Given the description of an element on the screen output the (x, y) to click on. 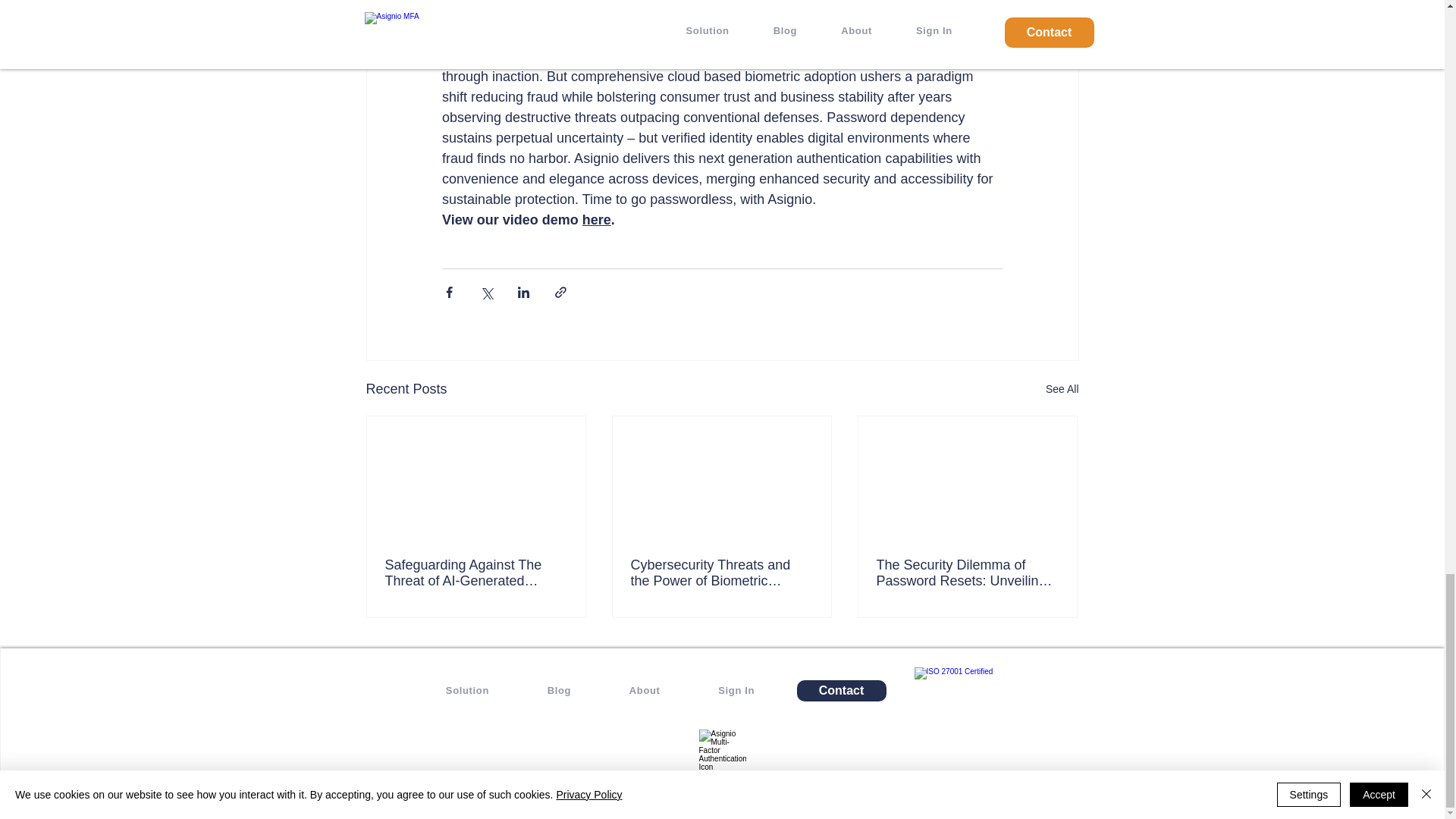
Blog (558, 690)
Solution (467, 690)
here (595, 219)
Sign In (736, 690)
See All (1061, 389)
Badge Blue.png (721, 752)
Contact (840, 690)
iaf logo.png (970, 690)
About (643, 690)
